Given the description of an element on the screen output the (x, y) to click on. 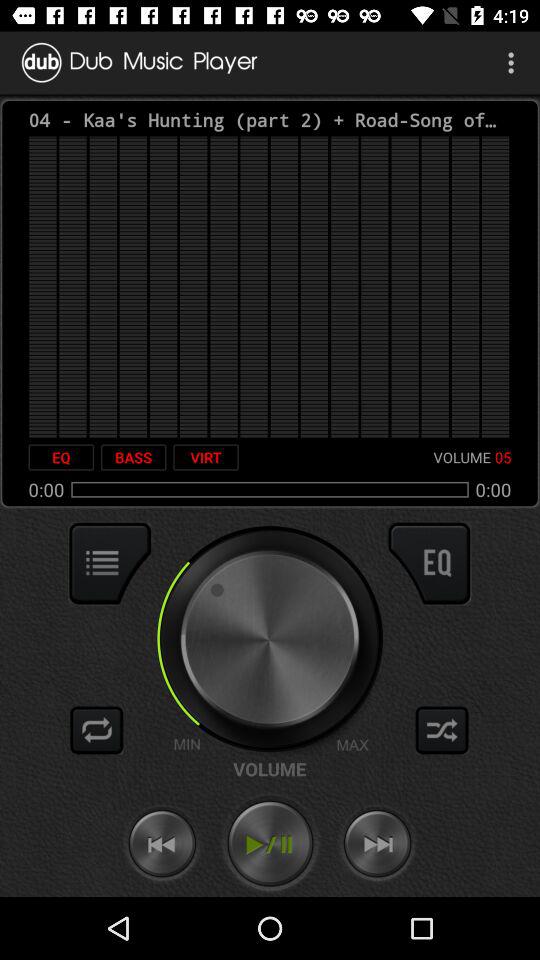
launch icon next to the  bass  icon (205, 457)
